Given the description of an element on the screen output the (x, y) to click on. 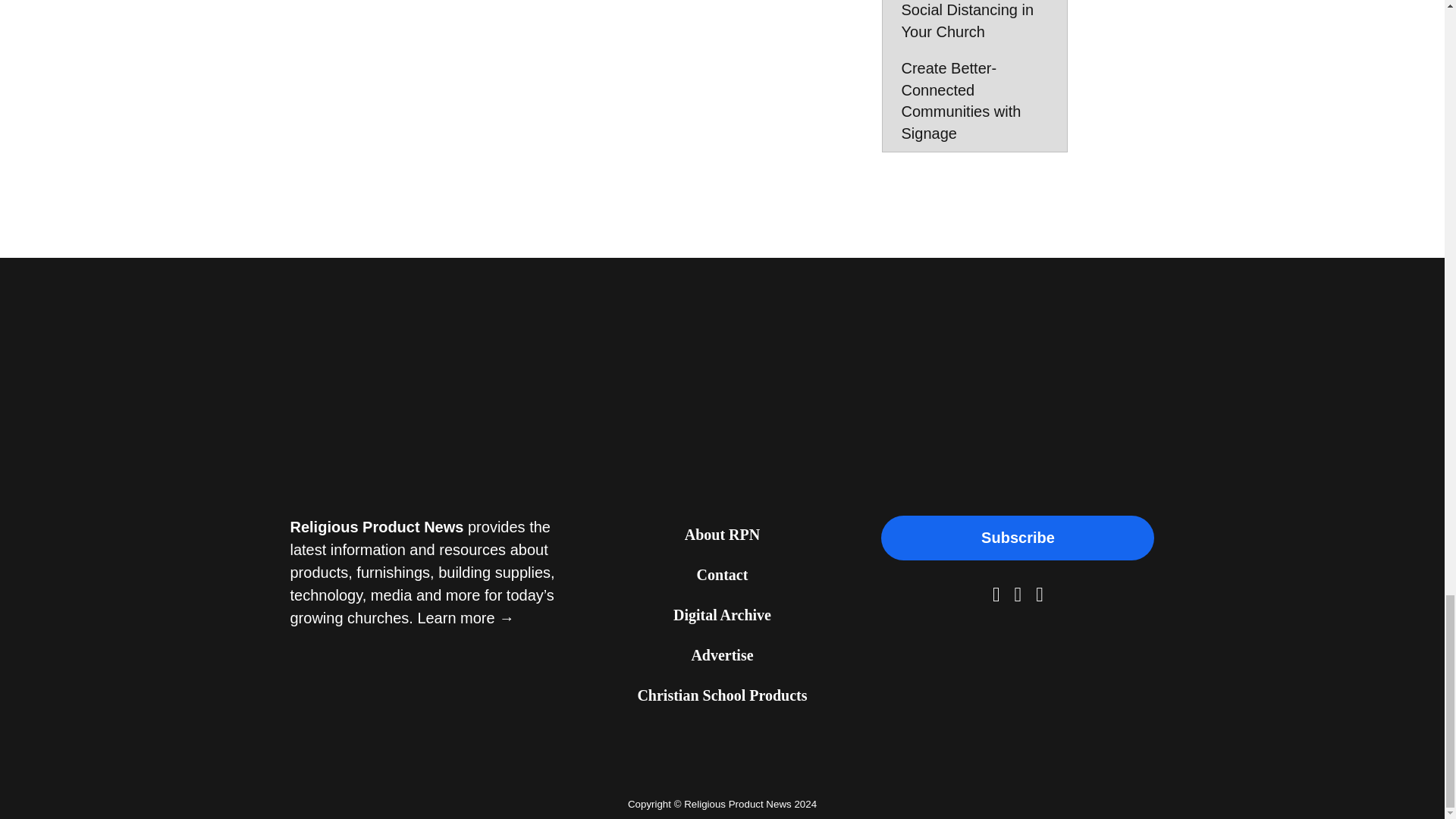
Contact (722, 576)
About RPN (722, 535)
Digital Archive (721, 616)
